Given the description of an element on the screen output the (x, y) to click on. 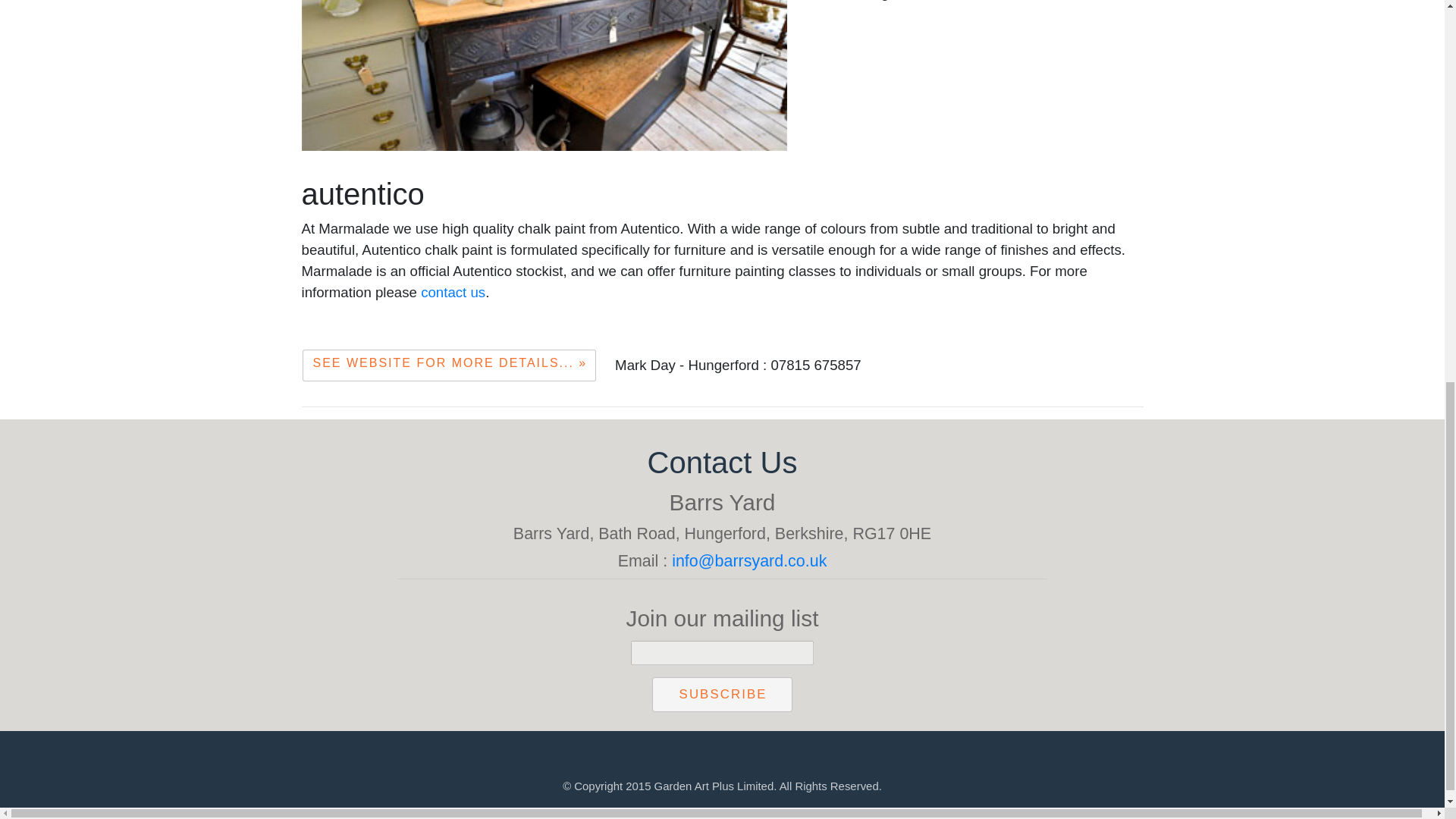
contact us (452, 292)
Subscribe (722, 694)
Subscribe (722, 694)
